Given the description of an element on the screen output the (x, y) to click on. 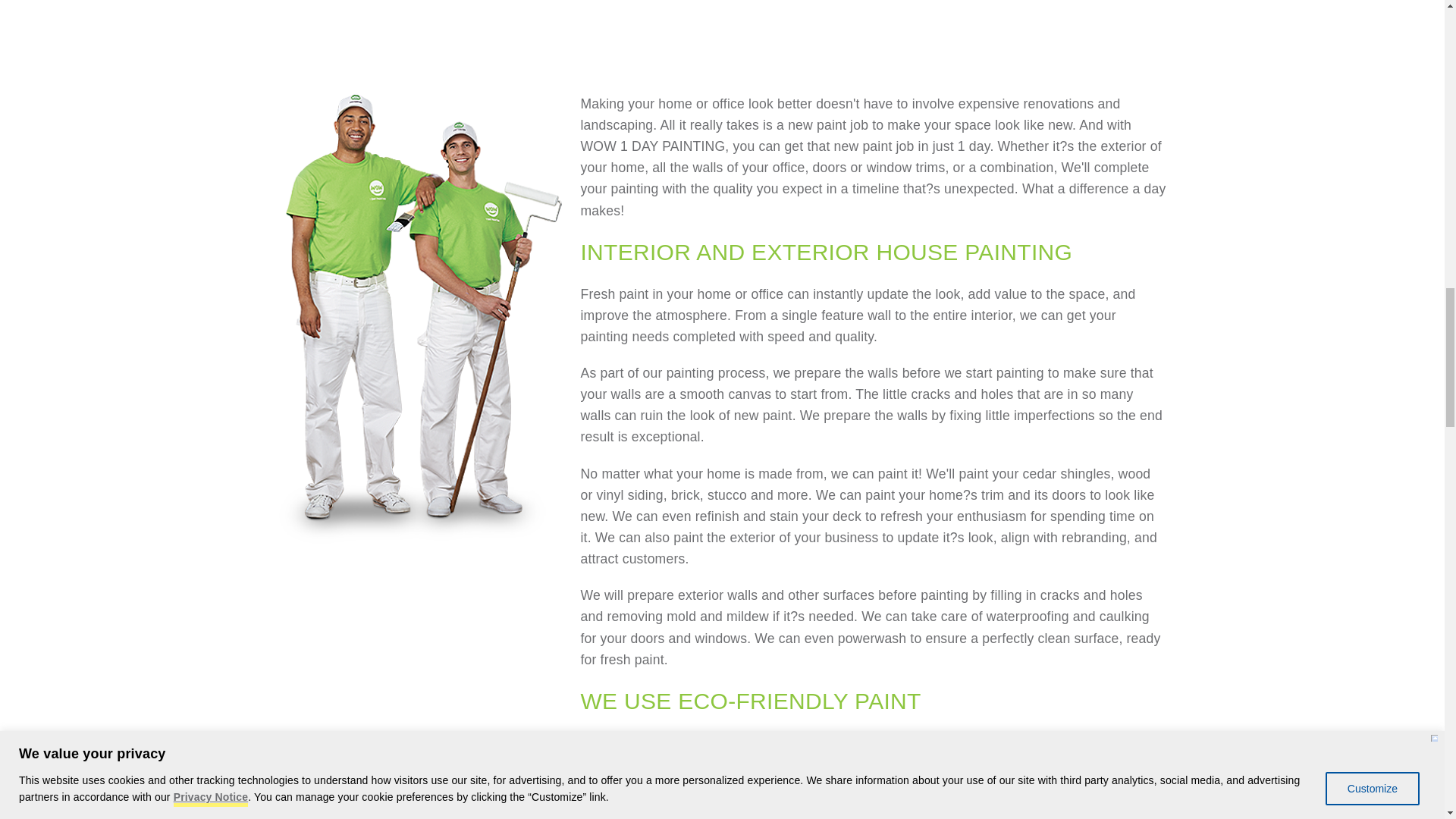
Image (943, 38)
Image (499, 36)
